Given the description of an element on the screen output the (x, y) to click on. 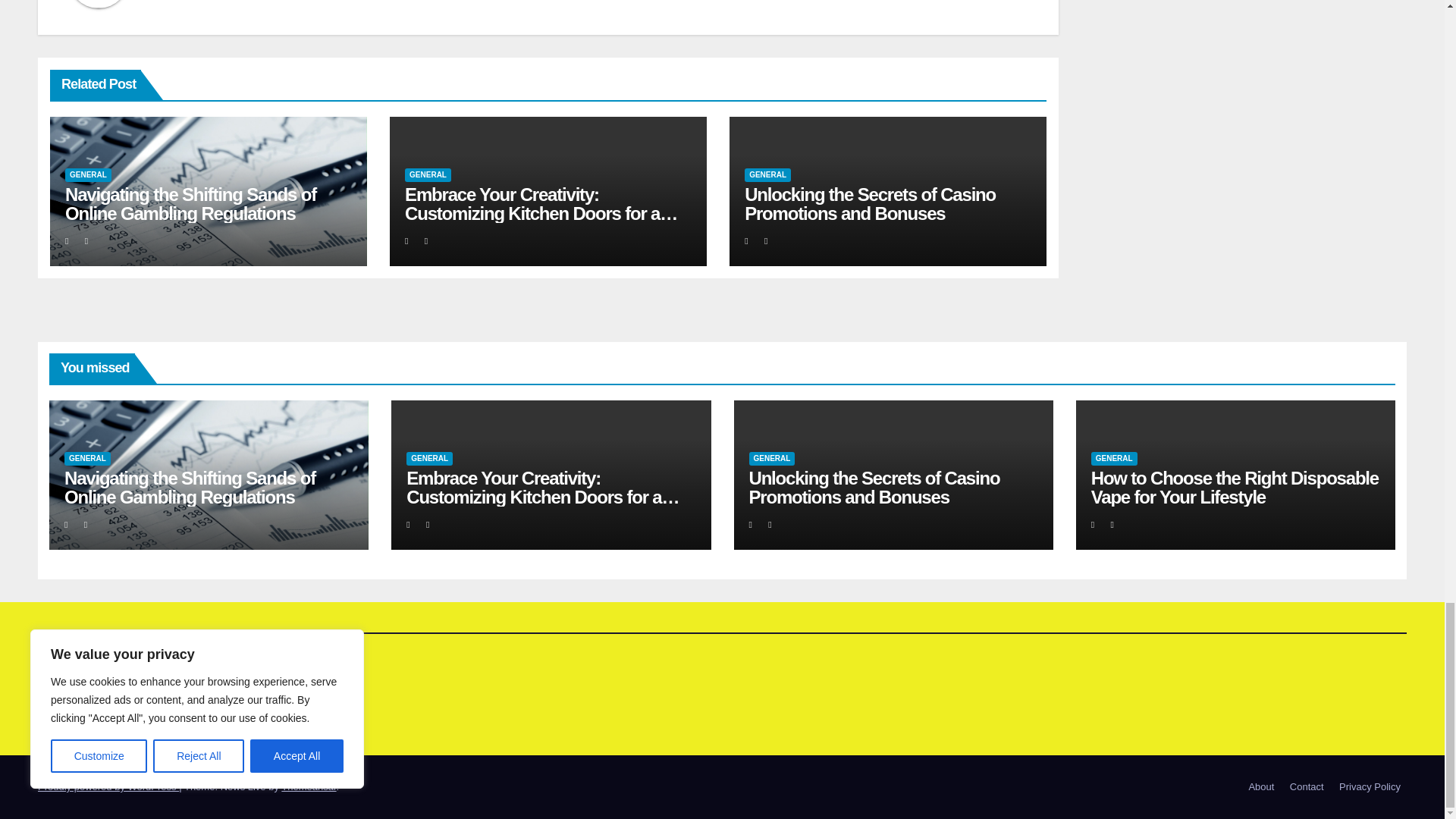
Contact (1307, 786)
Privacy Policy (1369, 786)
About (1260, 786)
